Given the description of an element on the screen output the (x, y) to click on. 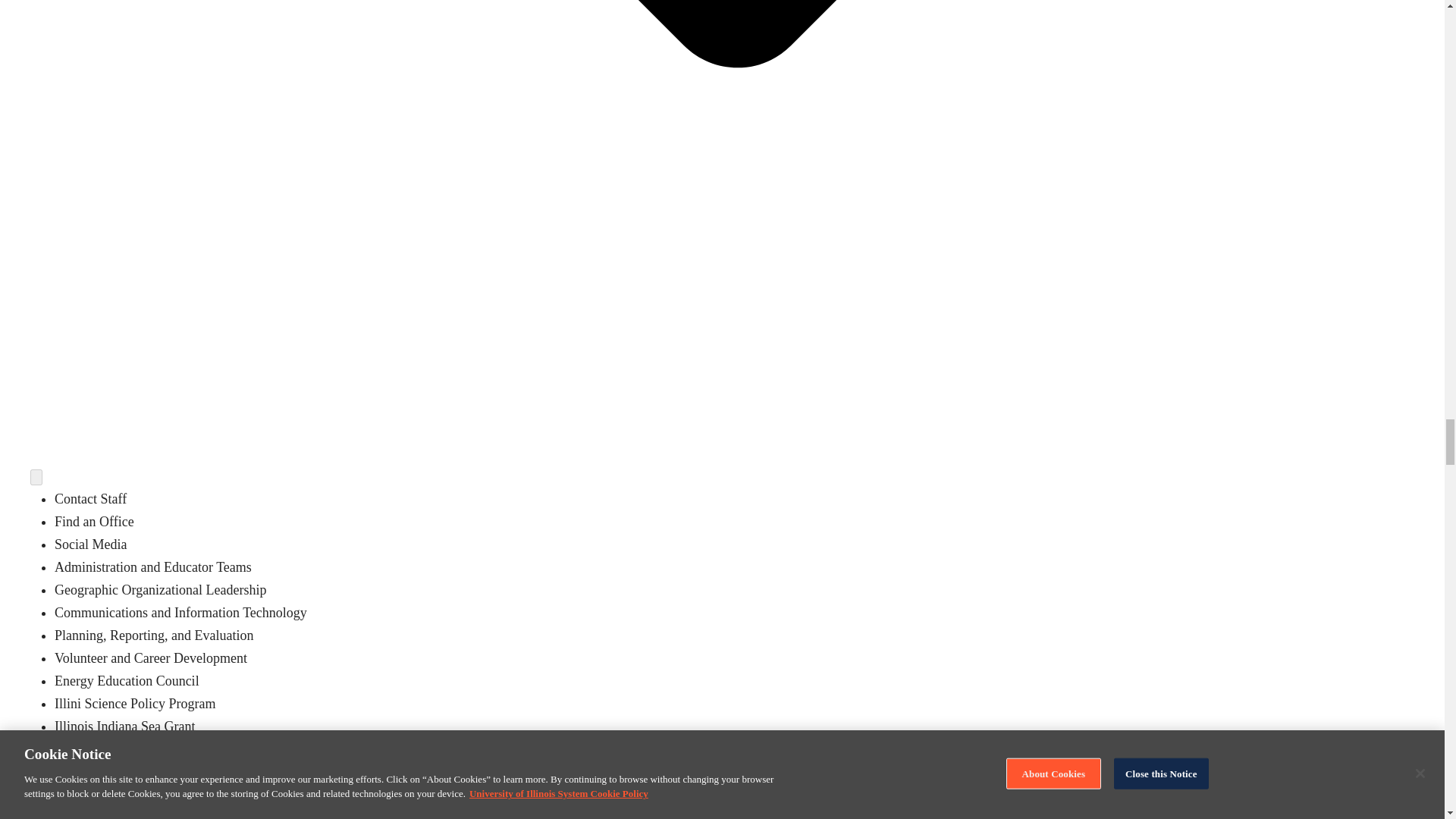
Contact Staff (90, 498)
Planning, Reporting, and Evaluation (154, 635)
Social Media (90, 544)
Administration and Educator Teams (153, 566)
Find an Office (94, 521)
Communications and Information Technology (181, 612)
Volunteer and Career Development (151, 657)
Geographic Organizational Leadership (160, 589)
